Given the description of an element on the screen output the (x, y) to click on. 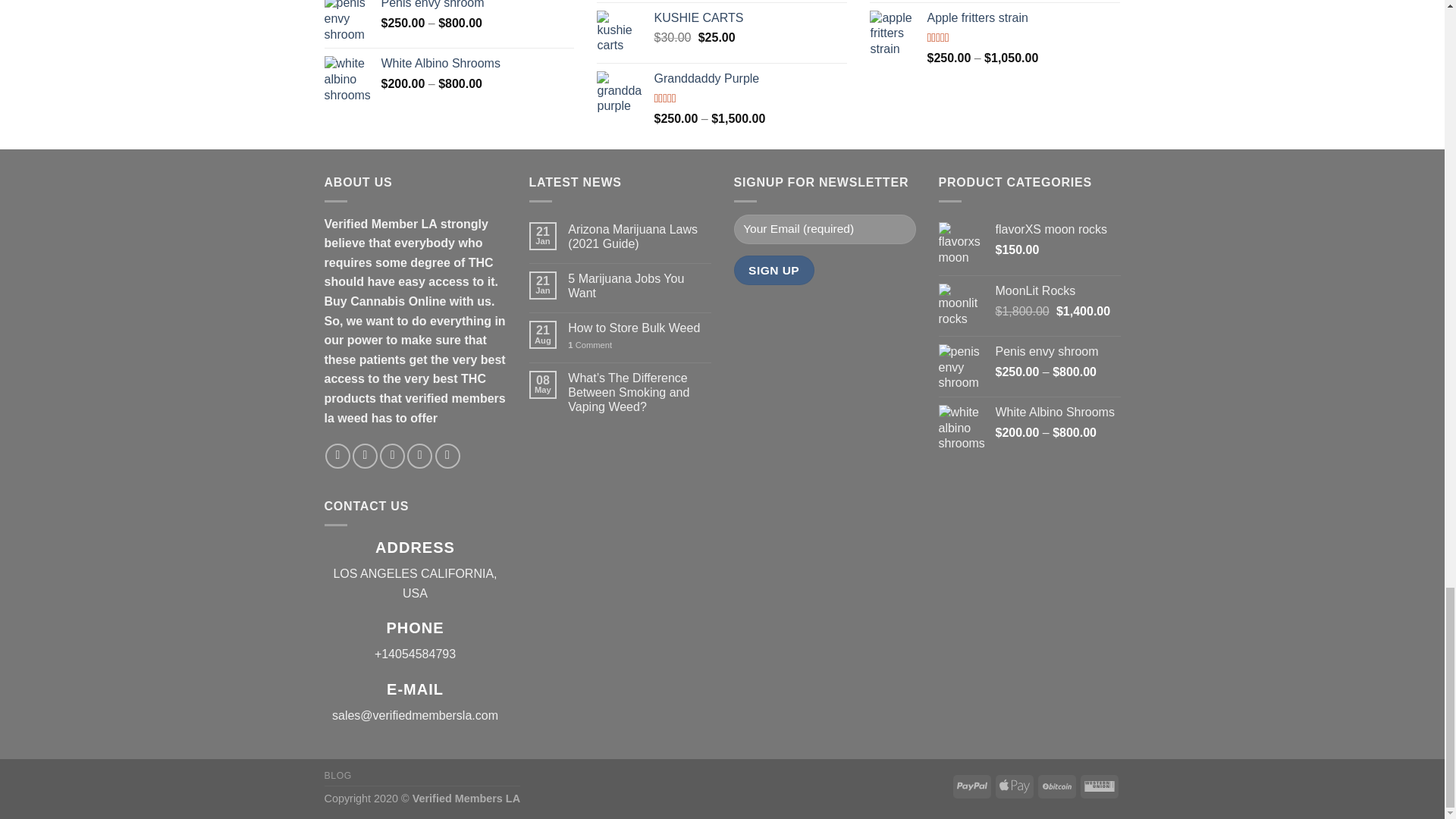
Sign Up (773, 270)
